Given the description of an element on the screen output the (x, y) to click on. 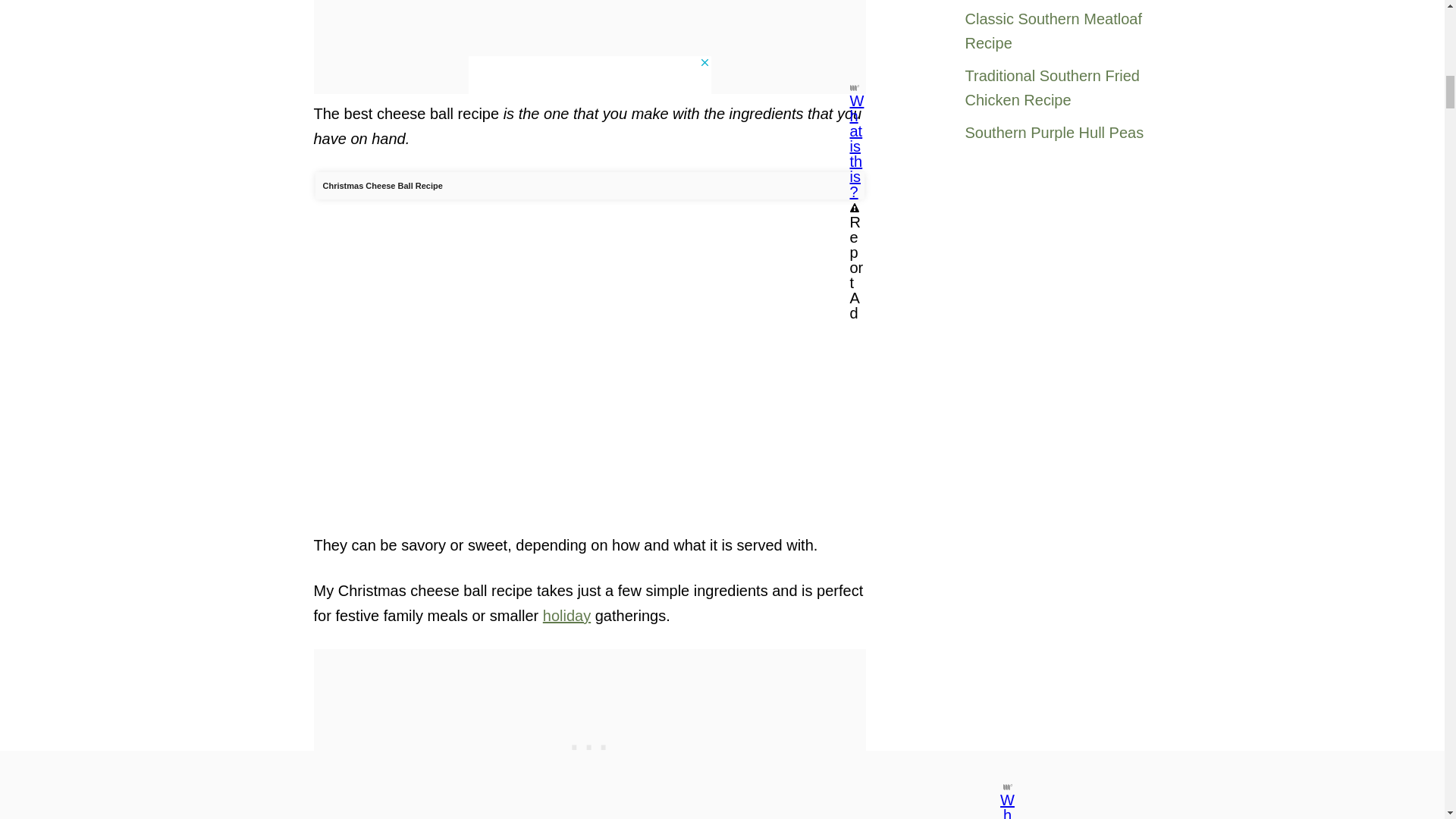
3rd party ad content (589, 734)
